Given the description of an element on the screen output the (x, y) to click on. 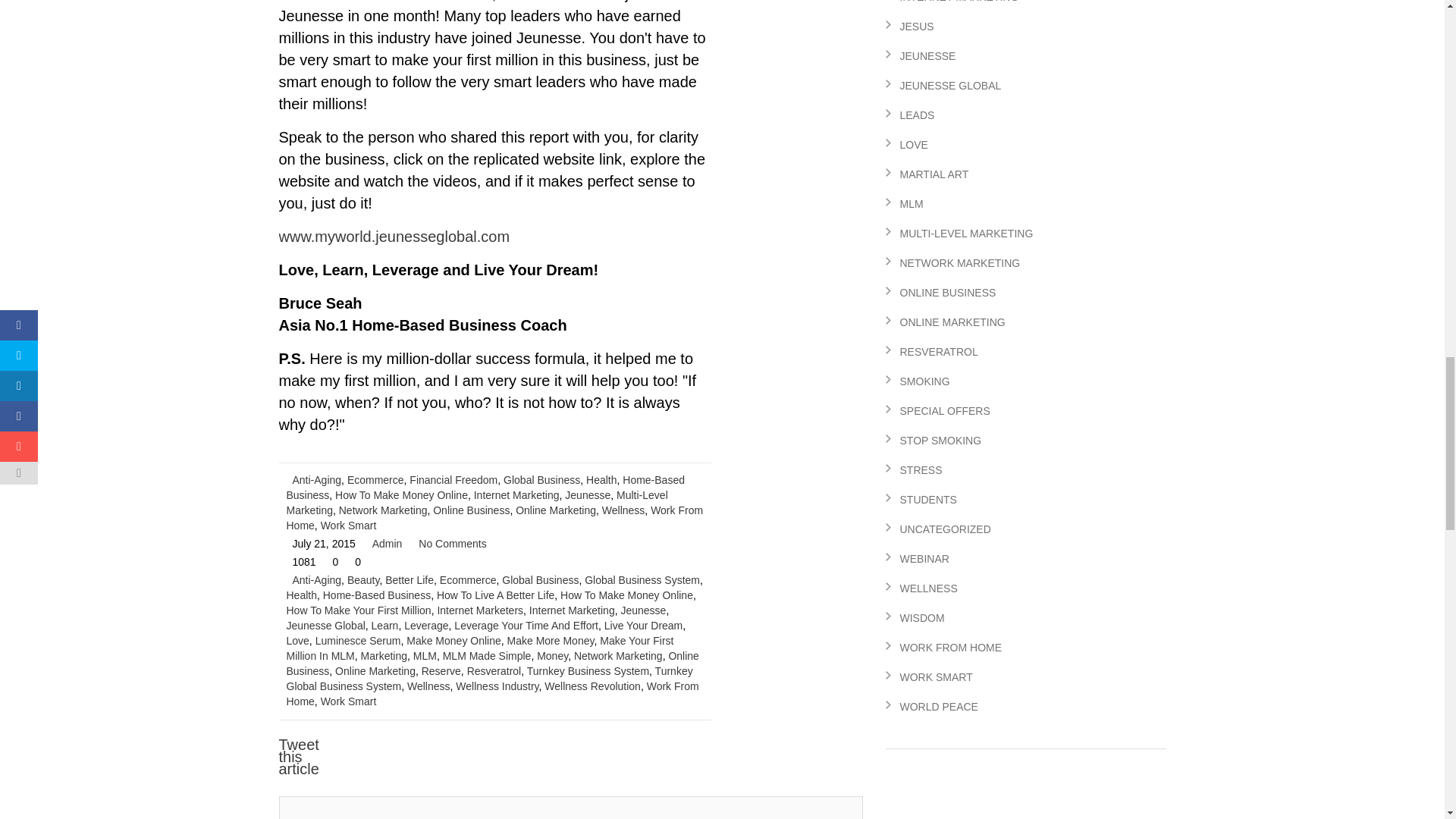
Wellness (623, 510)
Financial Freedom (453, 480)
Global Business (541, 480)
Number of view. (300, 561)
Multi-Level Marketing (477, 502)
www.myworld.jeunesseglobal.com (395, 236)
Jeunesse (587, 494)
Network Marketing (383, 510)
Online Marketing (555, 510)
Internet Marketing (516, 494)
Home-Based Business (485, 487)
Admin (387, 543)
Online Business (470, 510)
Posts by admin (387, 543)
No Comments (452, 543)
